Given the description of an element on the screen output the (x, y) to click on. 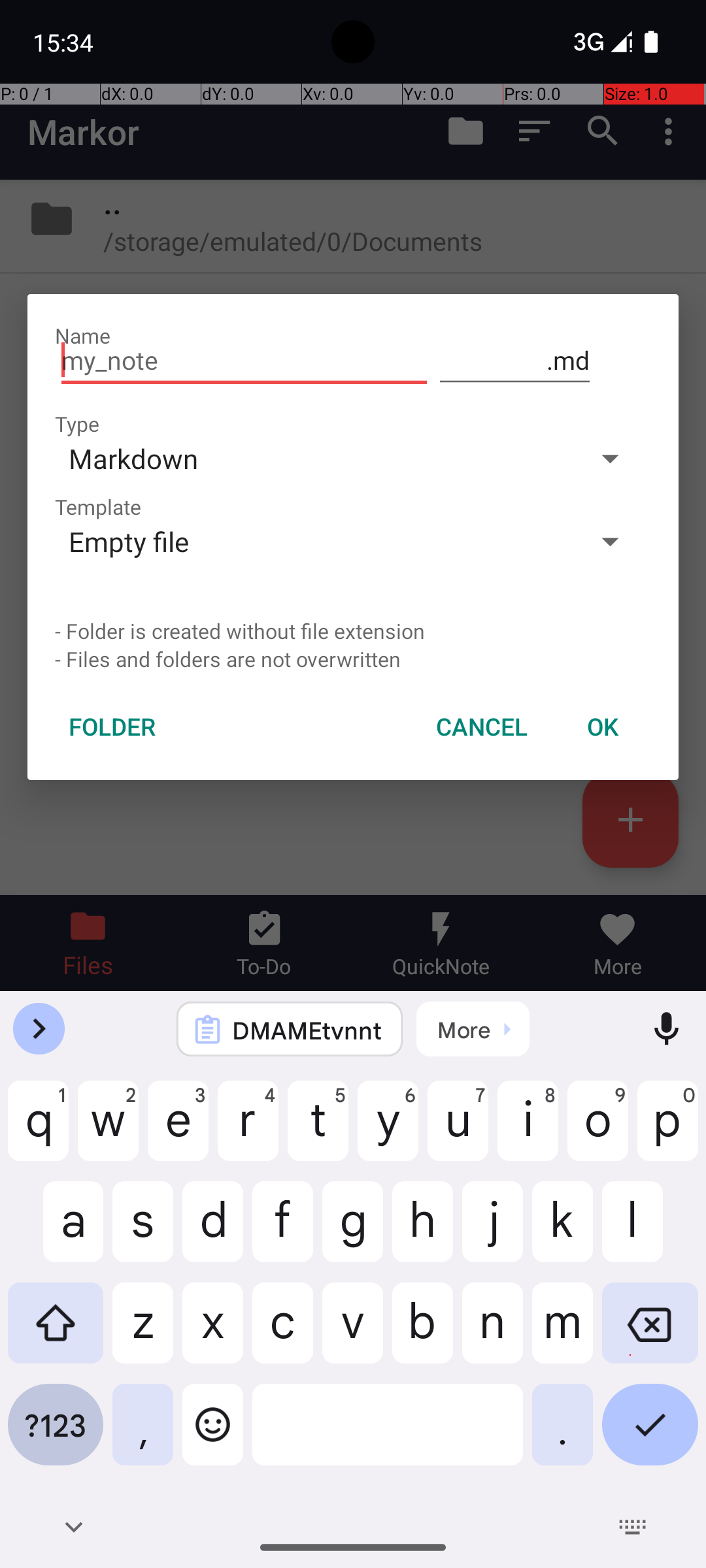
my_note Element type: android.widget.EditText (243, 360)
.md Element type: android.widget.EditText (514, 360)
Type Element type: android.widget.TextView (76, 423)
Template Element type: android.widget.TextView (97, 506)
- Folder is created without file extension Element type: android.widget.TextView (352, 630)
- Files and folders are not overwritten Element type: android.widget.TextView (352, 658)
FOLDER Element type: android.widget.Button (111, 726)
Empty file Element type: android.widget.TextView (311, 540)
DMAMEtvnnt Element type: android.widget.TextView (306, 1029)
